Given the description of an element on the screen output the (x, y) to click on. 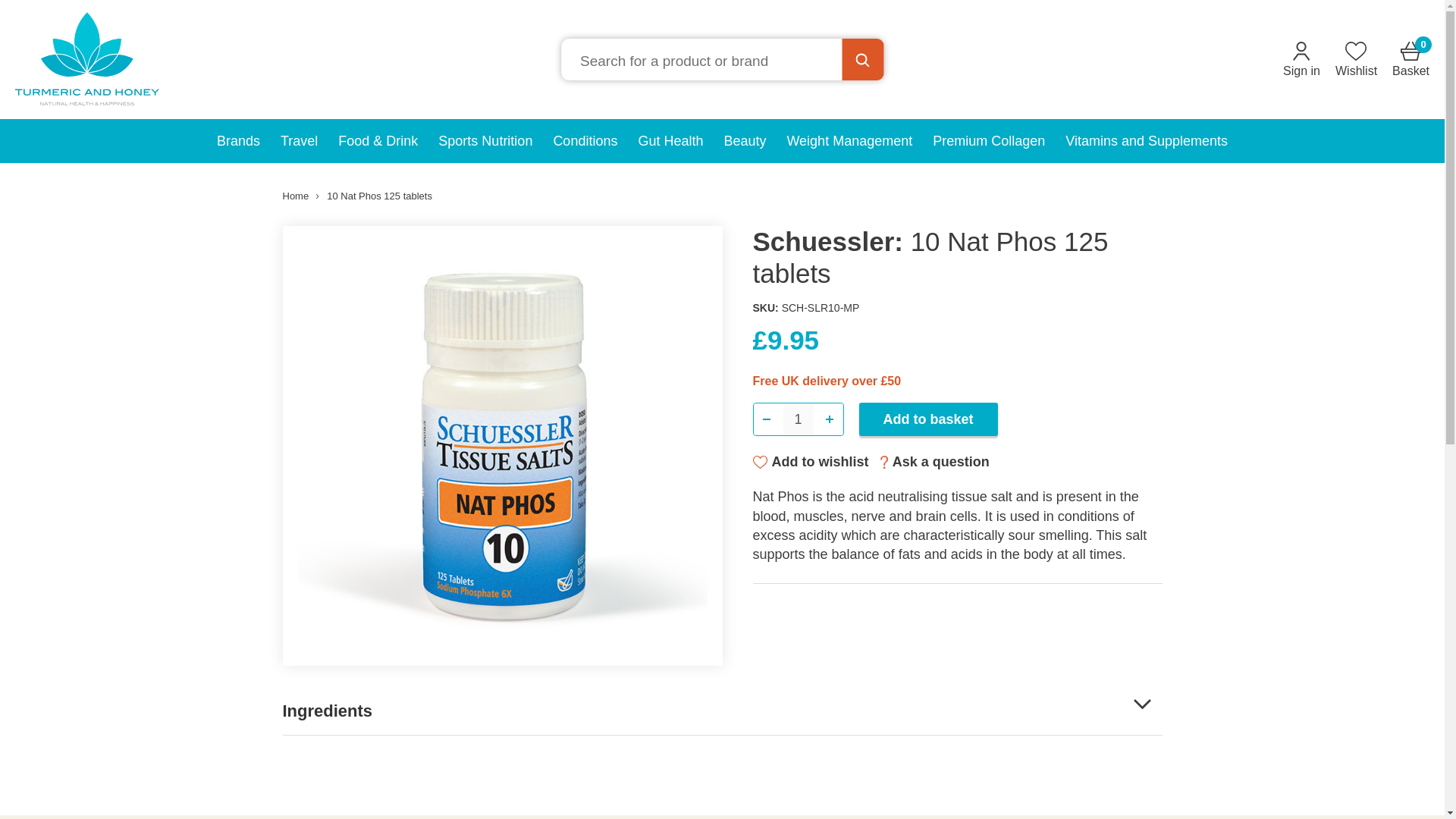
Wishlist (1356, 58)
Sign in (1301, 58)
Save settings (920, 607)
Travel (1410, 58)
1 (299, 140)
Brands (797, 419)
